Given the description of an element on the screen output the (x, y) to click on. 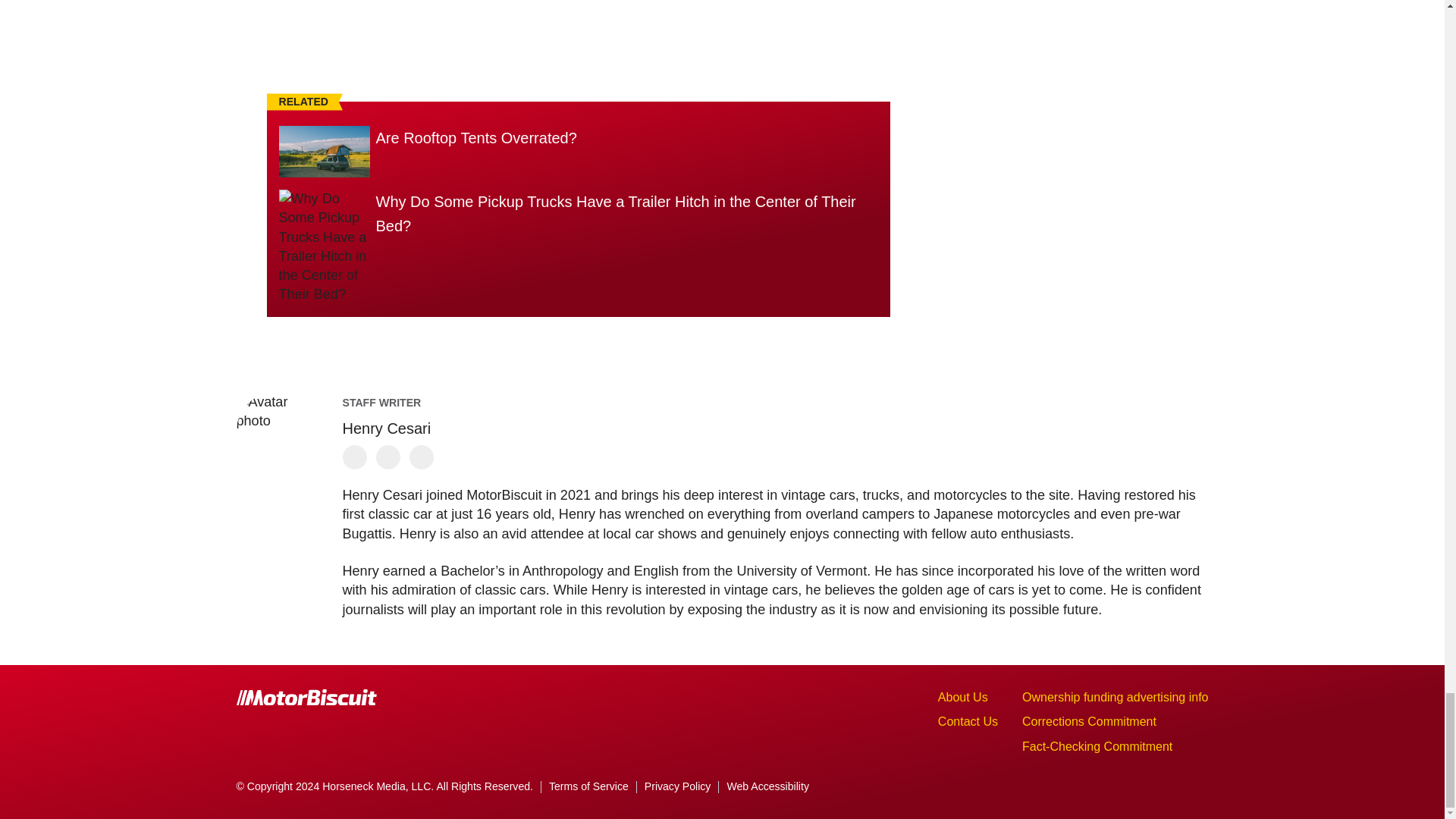
Outback UTE Tray  Available in the US! (577, 28)
